Given the description of an element on the screen output the (x, y) to click on. 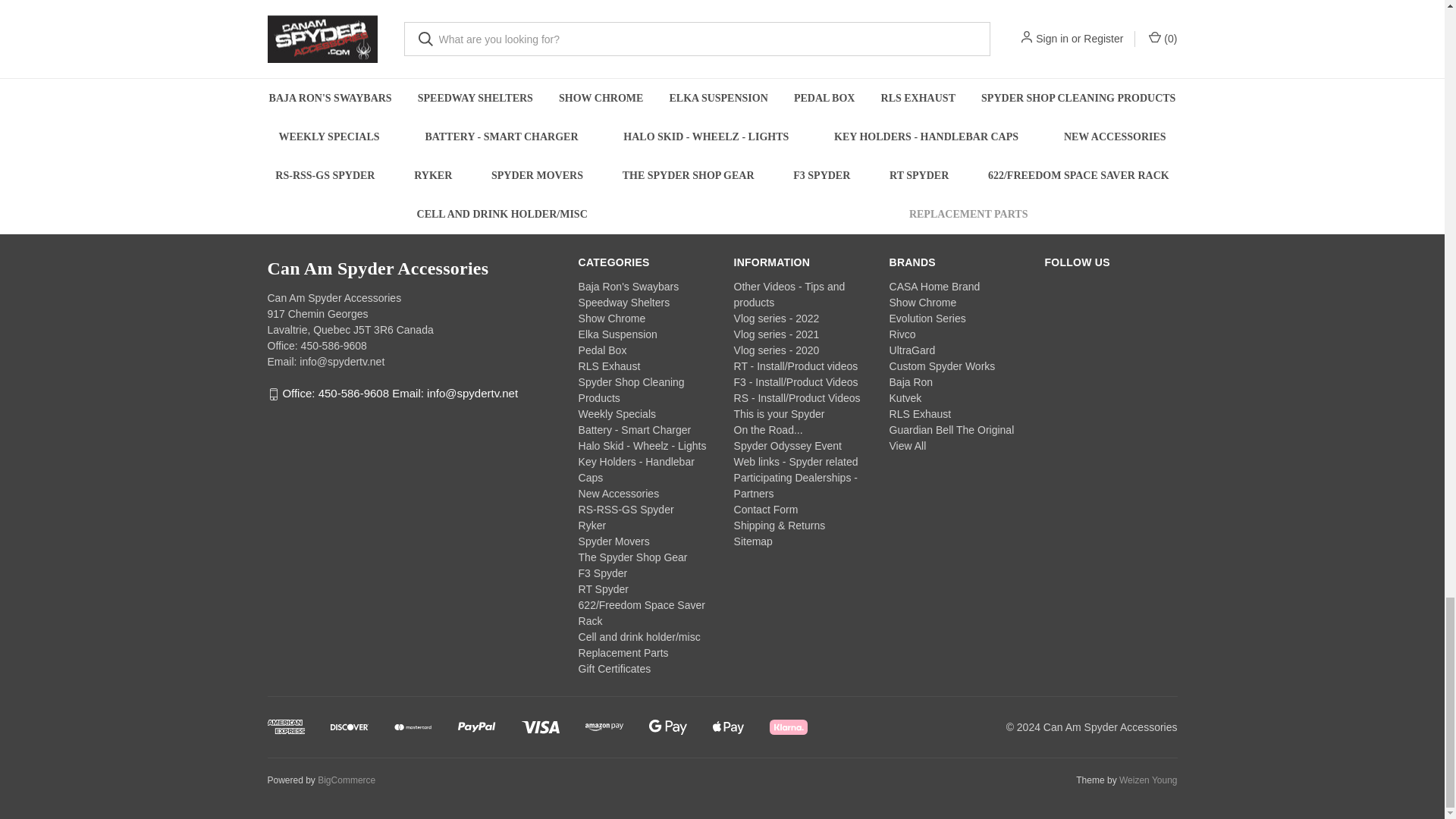
Subscribe (920, 154)
